Given the description of an element on the screen output the (x, y) to click on. 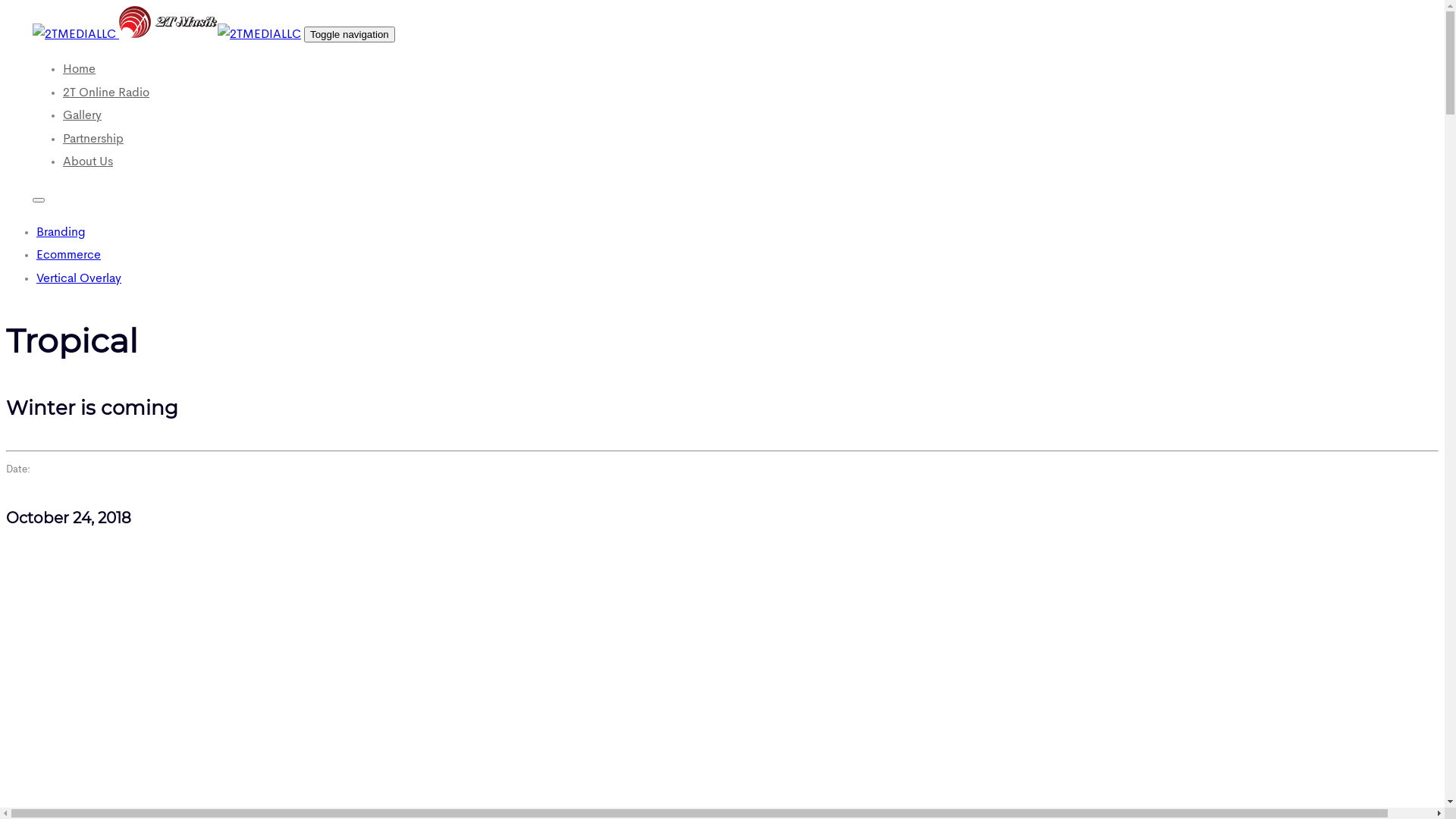
Partnership Element type: text (92, 139)
About Us Element type: text (87, 162)
2T Online Radio Element type: text (105, 93)
Vertical Overlay Element type: text (78, 279)
Home Element type: text (78, 69)
Branding Element type: text (60, 232)
Toggle navigation Element type: text (349, 34)
Ecommerce Element type: text (68, 255)
Gallery Element type: text (81, 115)
